Given the description of an element on the screen output the (x, y) to click on. 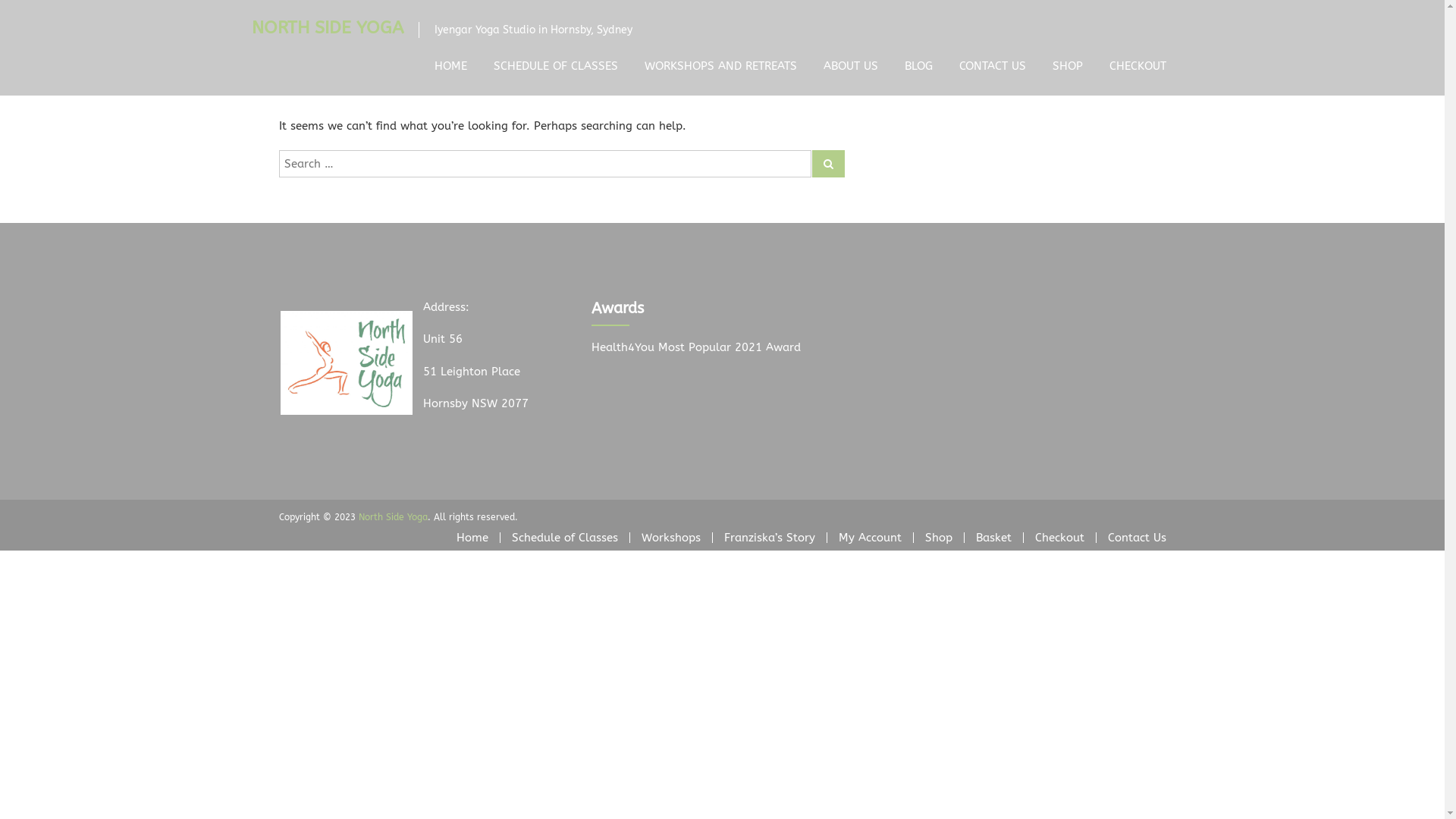
Contact Us Element type: text (1136, 537)
Checkout Element type: text (1058, 537)
HOME Element type: text (449, 65)
BLOG Element type: text (917, 65)
Basket Element type: text (992, 537)
Shop Element type: text (938, 537)
Home Element type: text (472, 537)
SCHEDULE OF CLASSES Element type: text (554, 65)
Search Element type: text (827, 163)
ABOUT US Element type: text (850, 65)
Schedule of Classes Element type: text (564, 537)
SHOP Element type: text (1067, 65)
CONTACT US Element type: text (991, 65)
Workshops Element type: text (670, 537)
Health4You Most Popular 2021 Award Element type: text (695, 346)
WORKSHOPS AND RETREATS Element type: text (720, 65)
My Account Element type: text (869, 537)
North Side Yoga Element type: text (391, 516)
CHECKOUT Element type: text (1136, 65)
NORTH SIDE YOGA Element type: text (327, 27)
